Given the description of an element on the screen output the (x, y) to click on. 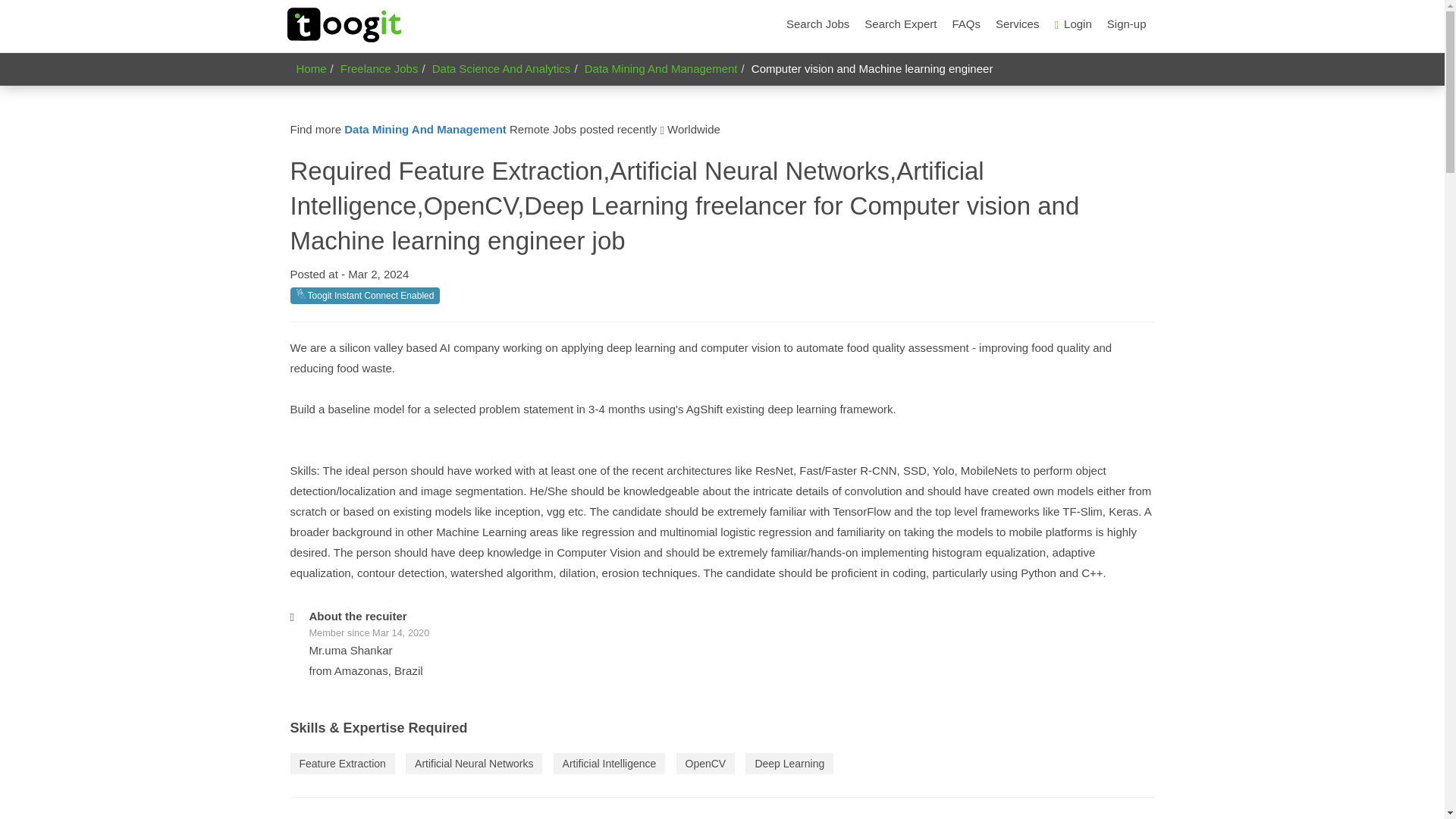
Artificial Neural Networks (473, 762)
FAQs (965, 23)
Login (1072, 23)
Search Jobs (817, 23)
Data Mining And Management (424, 128)
Deep Learning (788, 762)
Home (310, 68)
Find More Data Mining And Management Remote Jobs (424, 128)
Feature Extraction (341, 762)
Data Science And Analytics (501, 68)
OpenCV (706, 762)
Search Expert (900, 23)
Services (1017, 23)
Freelance Jobs (379, 68)
